Given the description of an element on the screen output the (x, y) to click on. 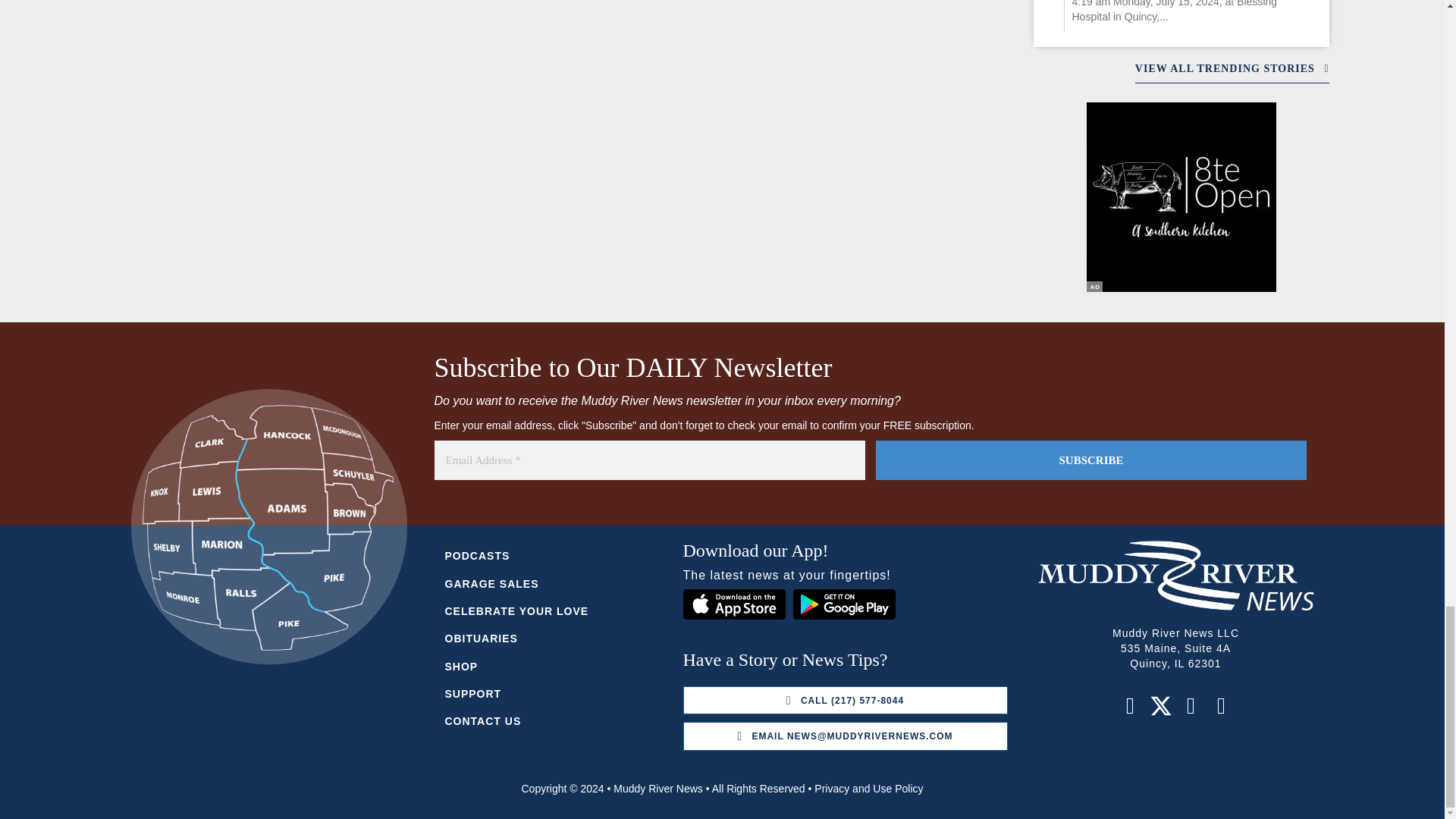
SUBSCRIBE (1091, 460)
